Given the description of an element on the screen output the (x, y) to click on. 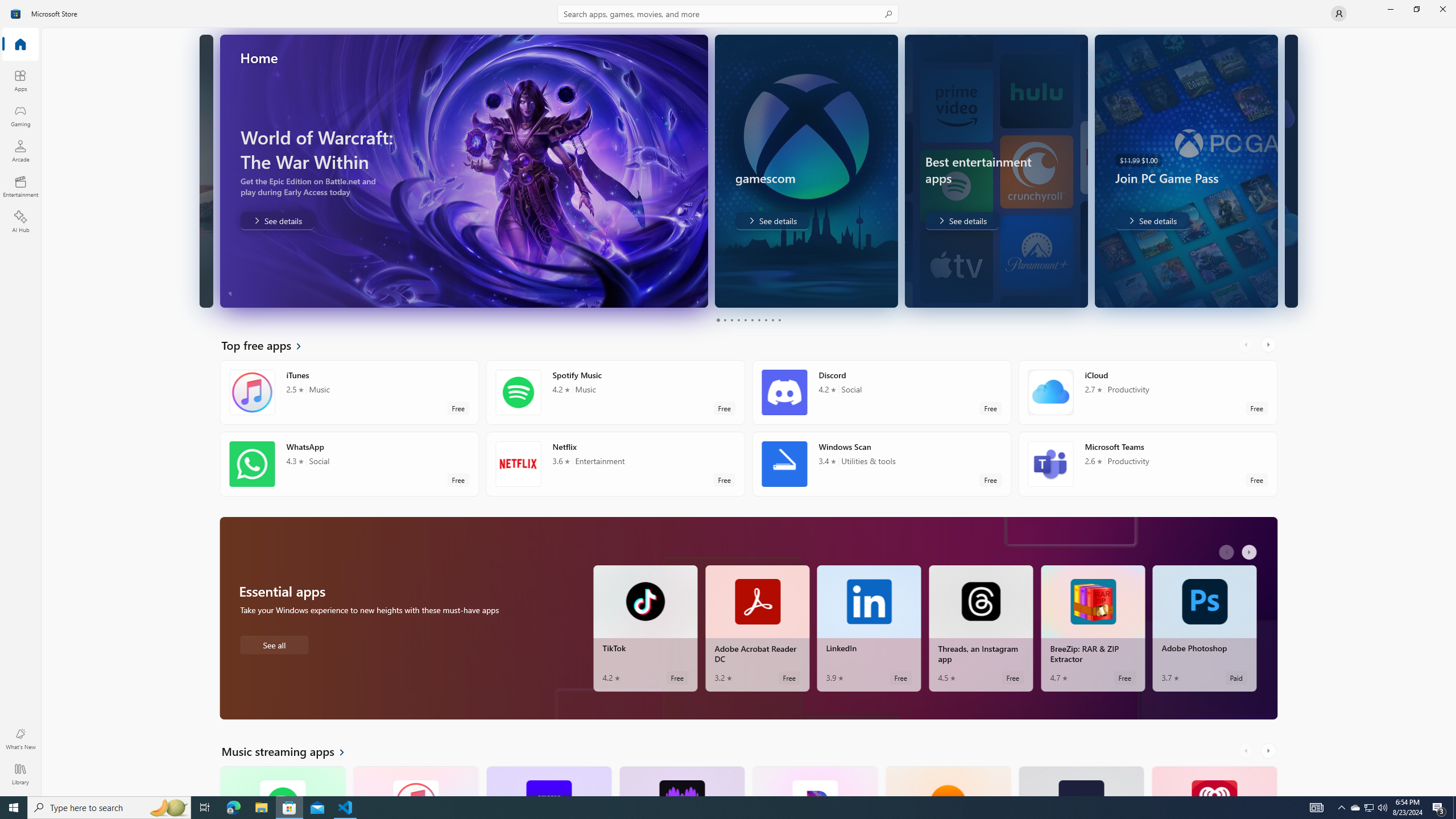
Discord. Average rating of 4.2 out of five stars. Free   (881, 392)
iTunes. Average rating of 2.5 out of five stars. Free   (415, 780)
Page 9 (772, 319)
Pager (748, 319)
gamescom. See the best of the show.  . See details (679, 221)
